Given the description of an element on the screen output the (x, y) to click on. 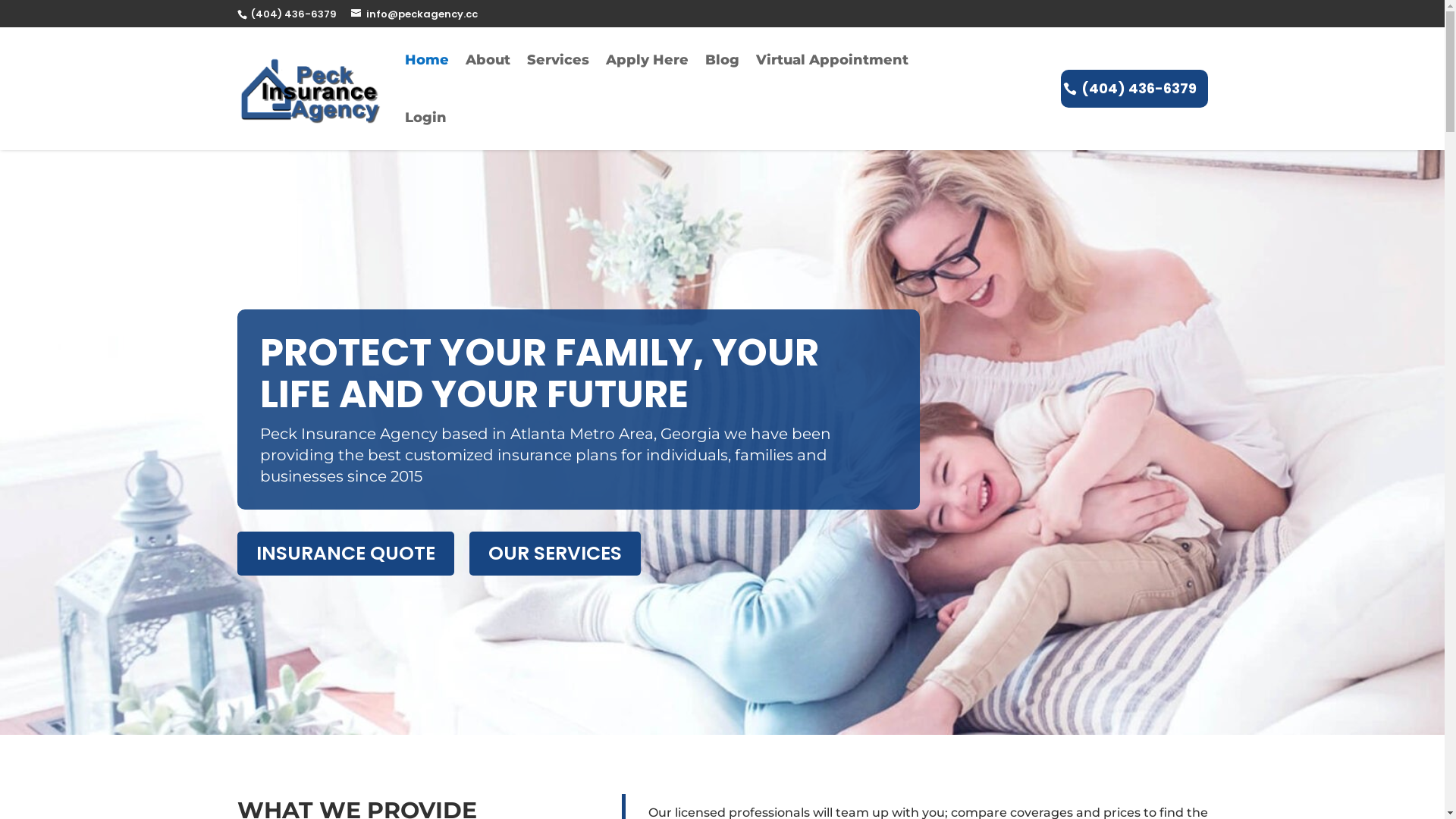
Virtual Appointment Element type: text (832, 59)
(404) 436-6379 Element type: text (1133, 88)
 info@peckagency.cc Element type: text (413, 13)
Home Element type: text (426, 59)
(404) 436-6379 Element type: text (290, 13)
Services Element type: text (558, 59)
Apply Here Element type: text (646, 59)
About Element type: text (487, 59)
Login Element type: text (425, 117)
Blog Element type: text (722, 59)
INSURANCE QUOTE Element type: text (344, 553)
OUR SERVICES Element type: text (554, 553)
